Given the description of an element on the screen output the (x, y) to click on. 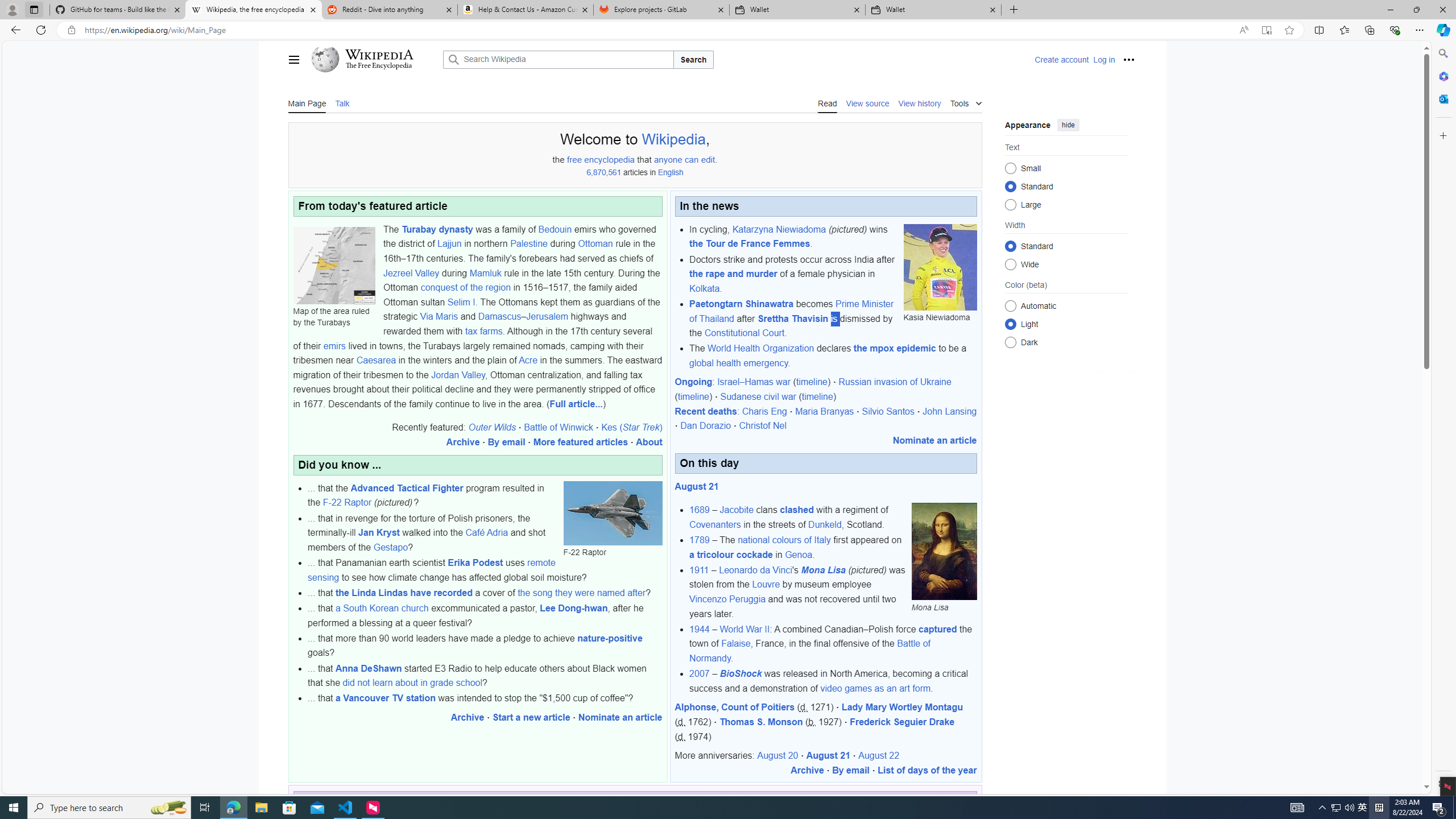
did not learn about in grade school (411, 682)
national colours of Italy (784, 539)
Thomas S. Monson (761, 721)
Russian invasion of Ukraine (895, 381)
encyclopedia (608, 159)
Gestapo (389, 547)
conquest of the region (465, 287)
Mona Lisa (822, 569)
Christof Nel (762, 425)
Advanced Tactical Fighter (406, 488)
Nominate an article (934, 439)
Talk (341, 102)
Lady Mary Wortley Montagu (901, 707)
